Given the description of an element on the screen output the (x, y) to click on. 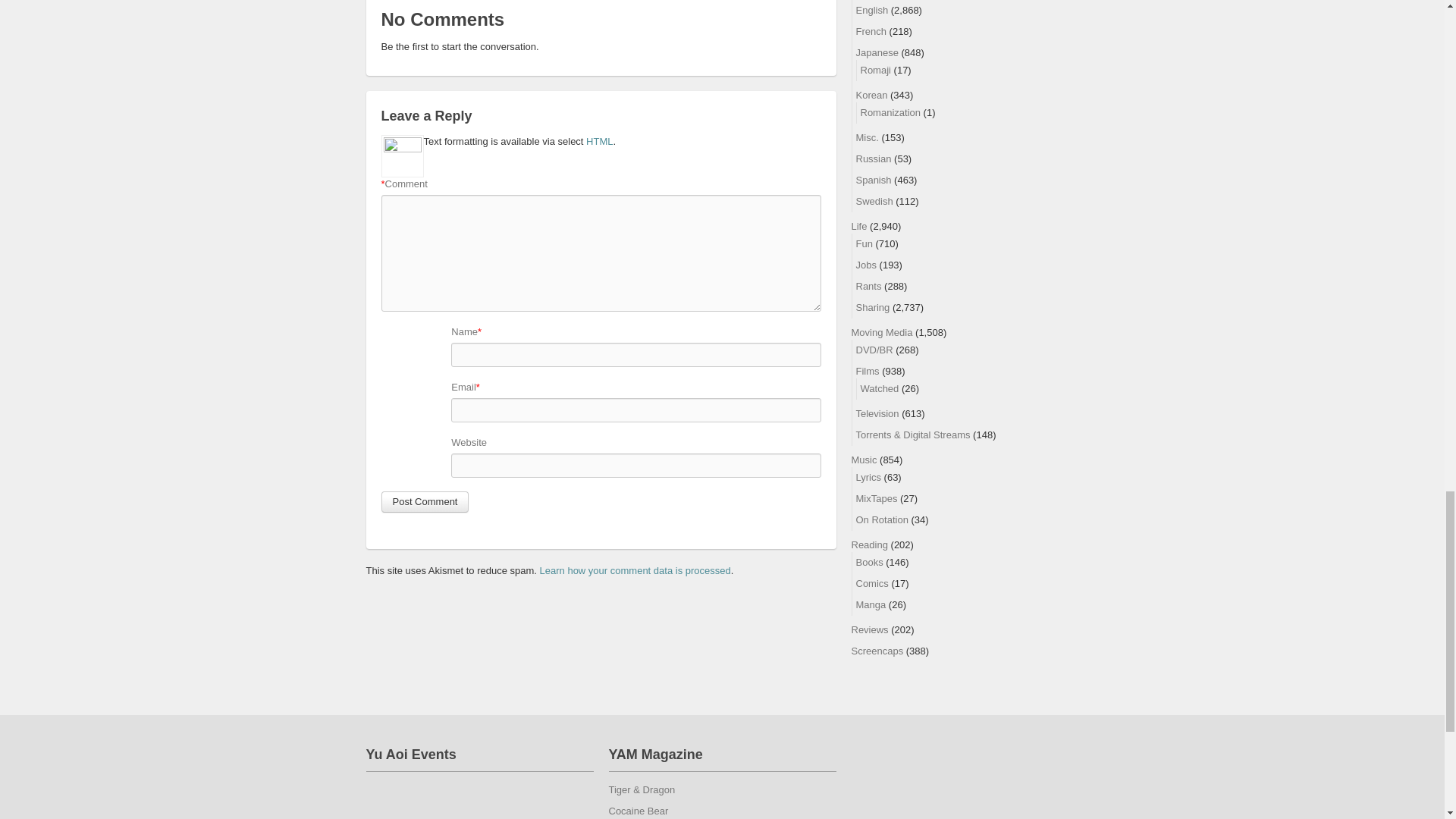
Learn how your comment data is processed (635, 570)
Post Comment (424, 501)
Post Comment (424, 501)
HTML (599, 141)
